Given the description of an element on the screen output the (x, y) to click on. 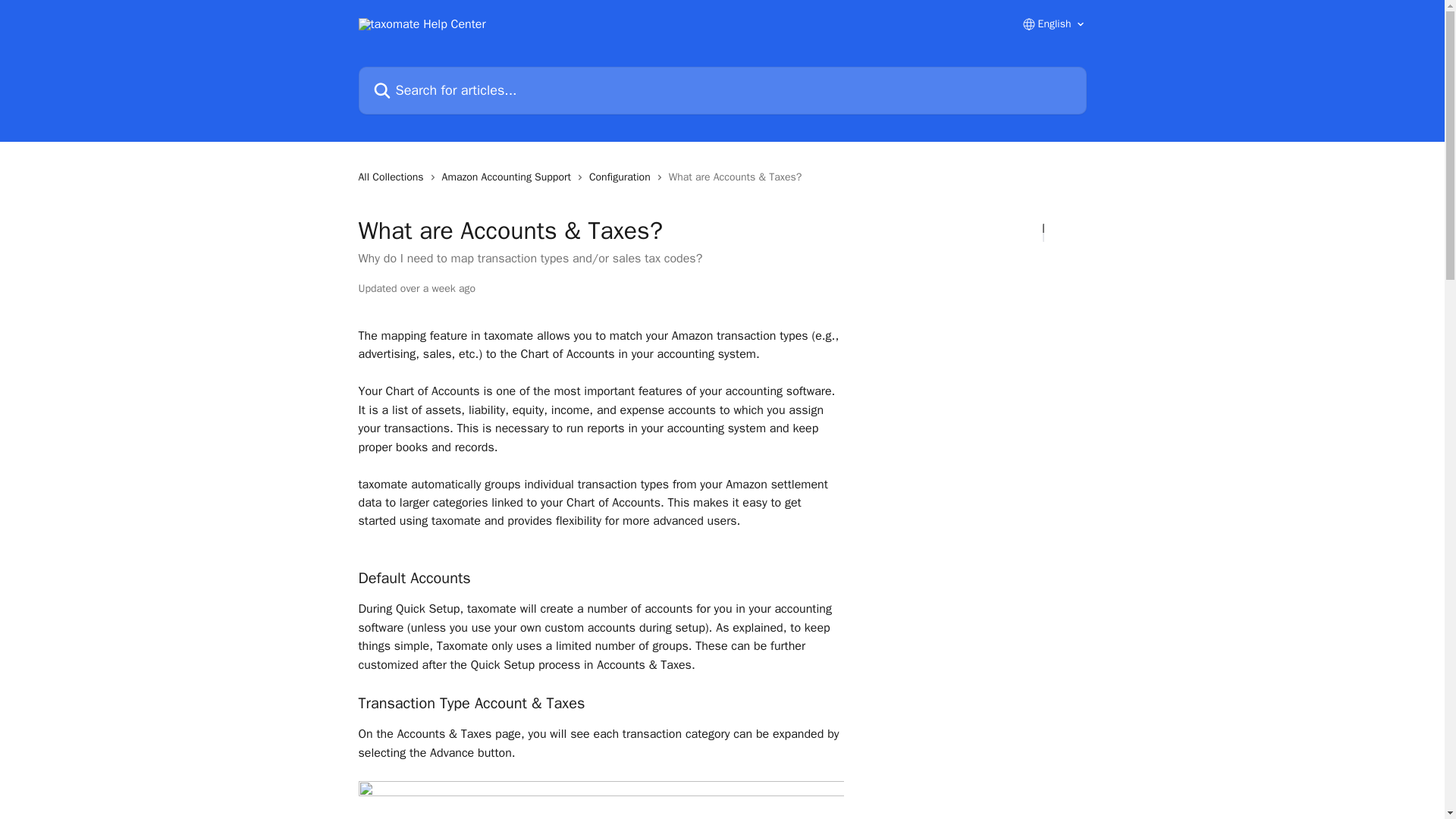
Amazon Accounting Support (509, 176)
All Collections (393, 176)
Configuration (622, 176)
